Given the description of an element on the screen output the (x, y) to click on. 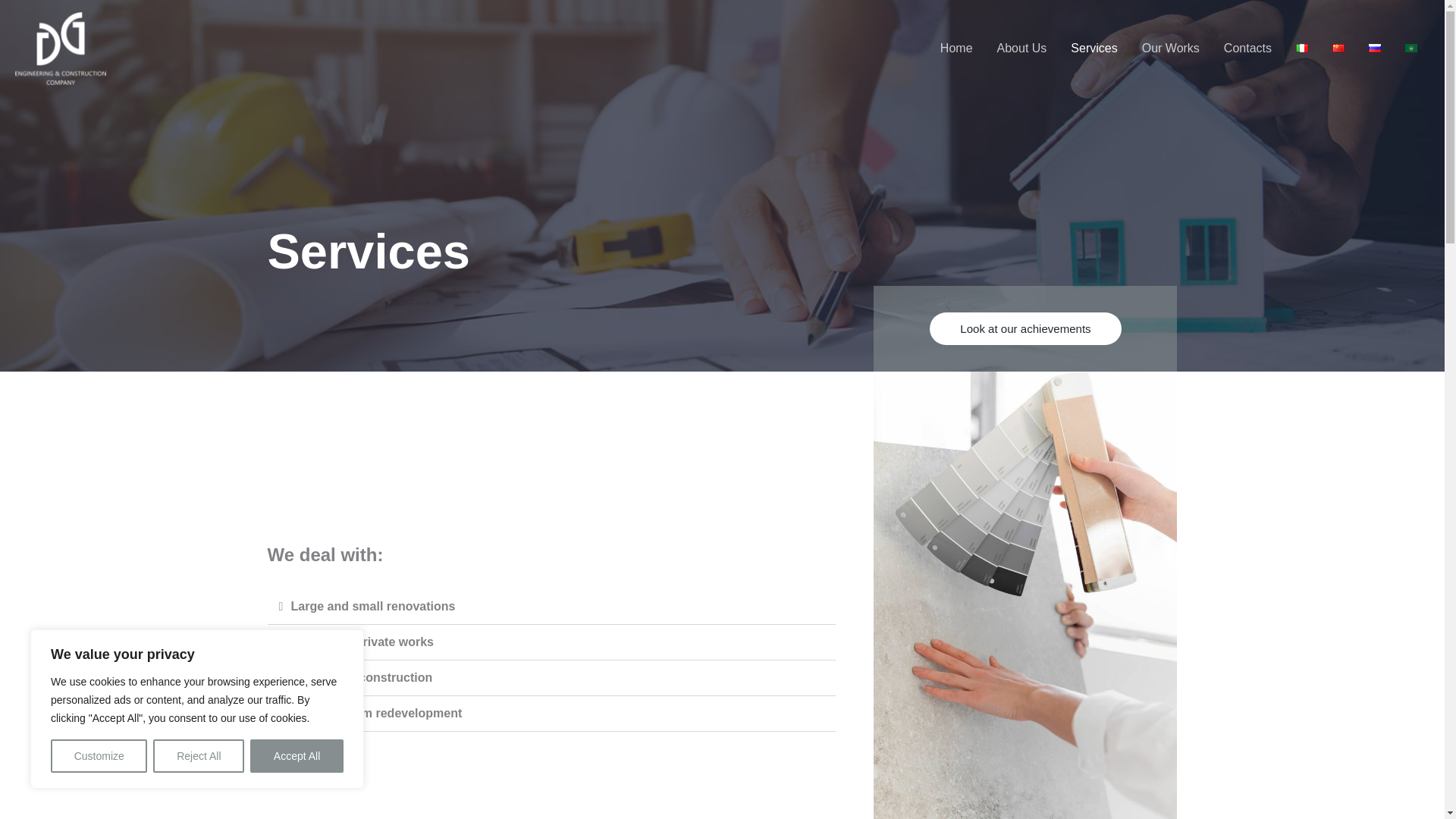
Accept All (296, 756)
Look at our achievements (1047, 328)
Condominium redevelopment (377, 712)
About Us (1022, 48)
Services (1093, 48)
Large and small renovations (373, 605)
Customize (98, 756)
Home (956, 48)
Our Works (1170, 48)
Reject All (198, 756)
Contacts (1247, 48)
Public and private works (362, 641)
Residential construction (361, 676)
